Given the description of an element on the screen output the (x, y) to click on. 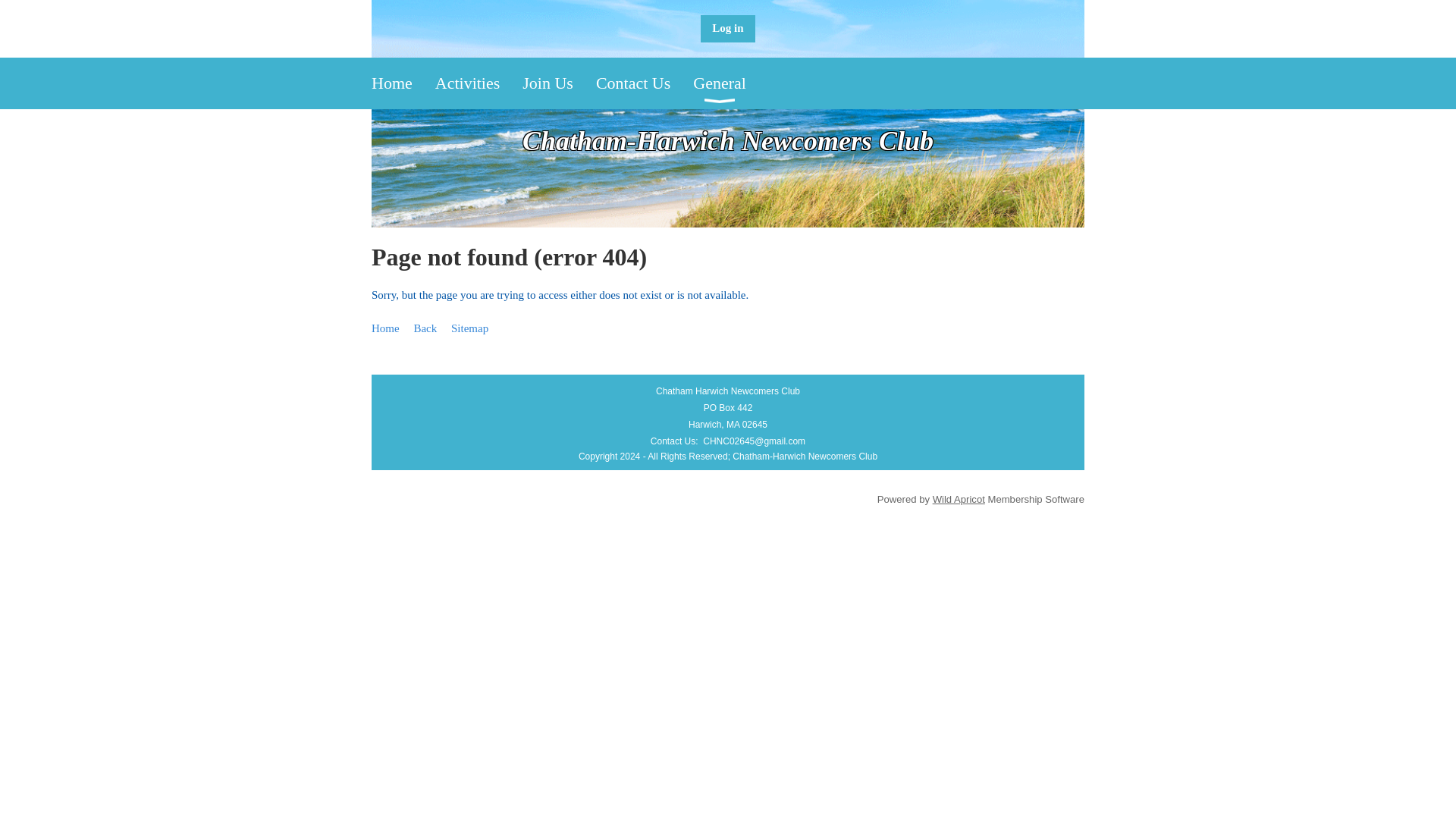
General (730, 82)
Join Us (558, 82)
Activities (478, 82)
Back (424, 328)
Sitemap (469, 328)
Activities (478, 82)
Home (403, 82)
Wild Apricot (959, 499)
Log in (727, 28)
Join Us (558, 82)
General (730, 82)
Contact Us (644, 82)
Contact Us (644, 82)
Home (403, 82)
Home (384, 328)
